Given the description of an element on the screen output the (x, y) to click on. 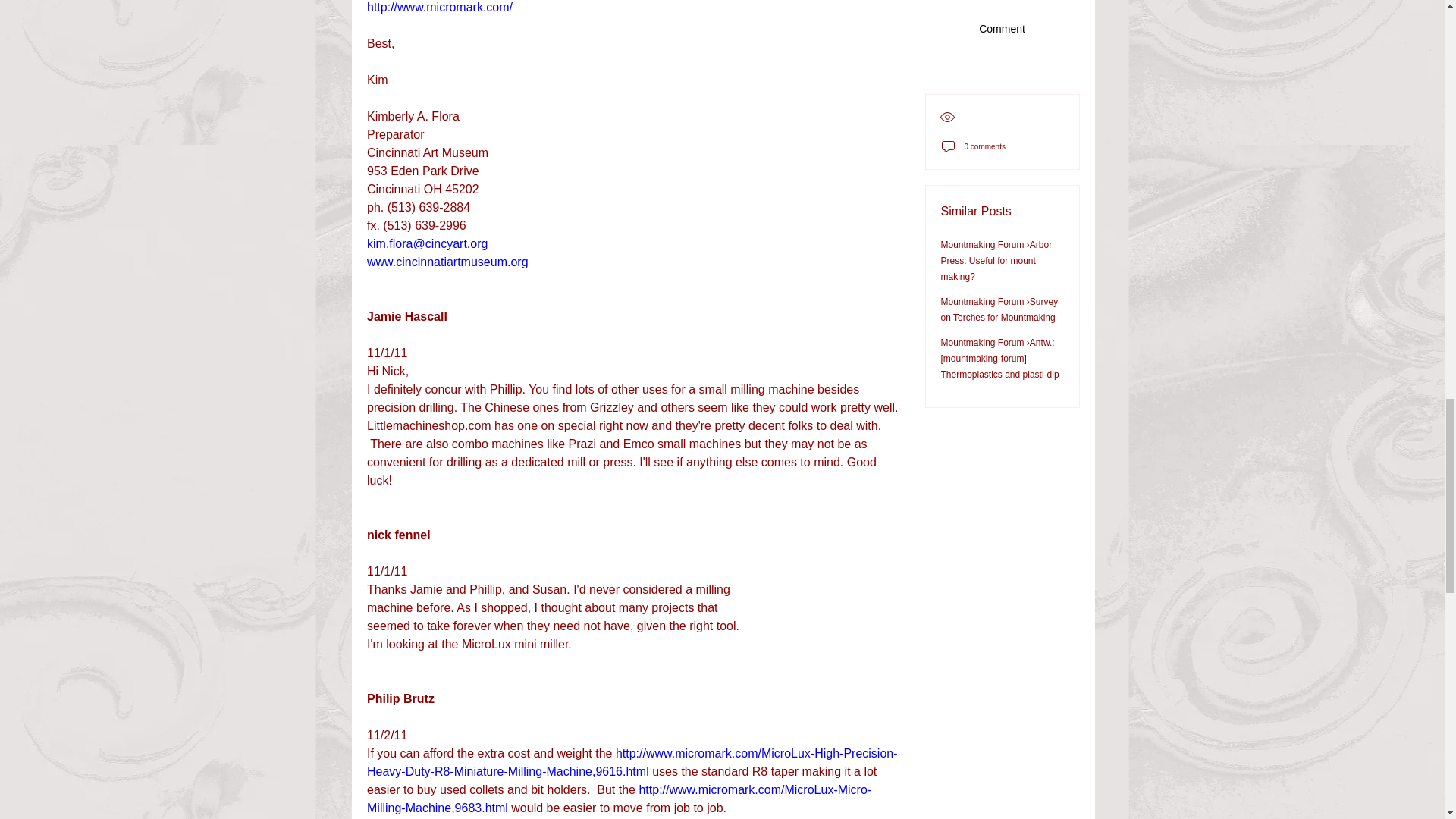
www.cincinnatiartmuseum.org (447, 261)
